Given the description of an element on the screen output the (x, y) to click on. 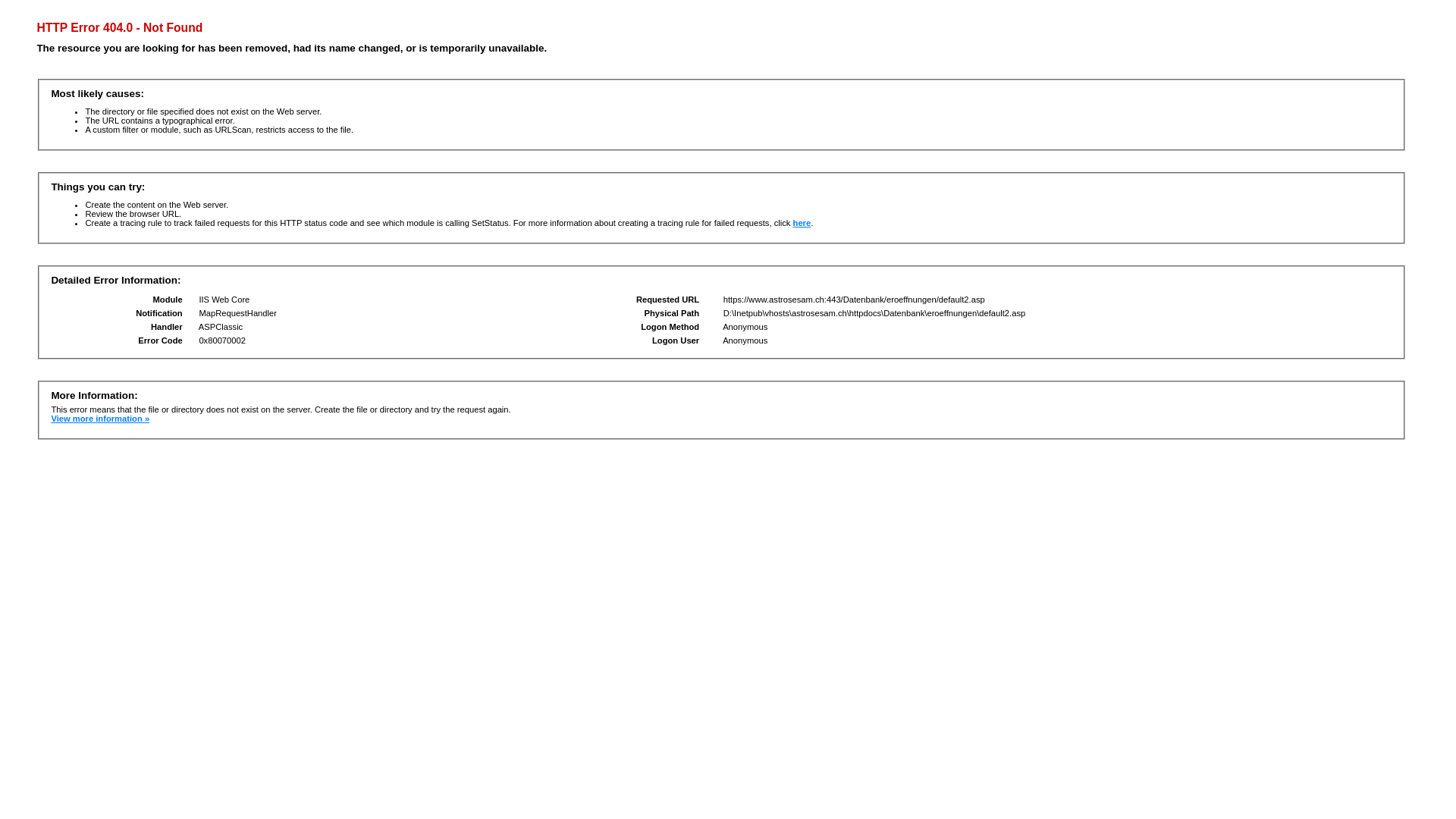
here Element type: text (802, 222)
